Given the description of an element on the screen output the (x, y) to click on. 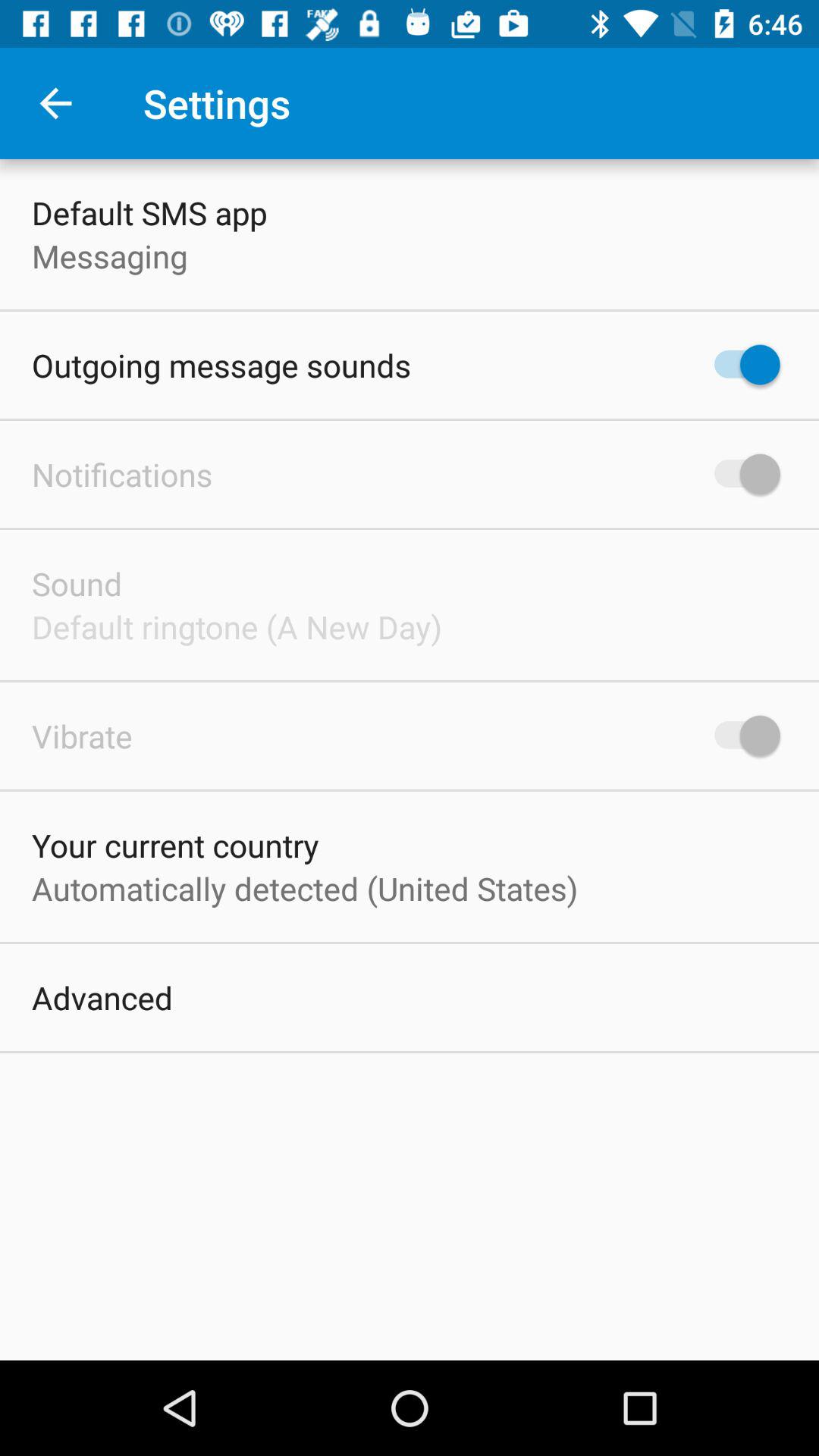
tap the icon above messaging item (149, 212)
